Given the description of an element on the screen output the (x, y) to click on. 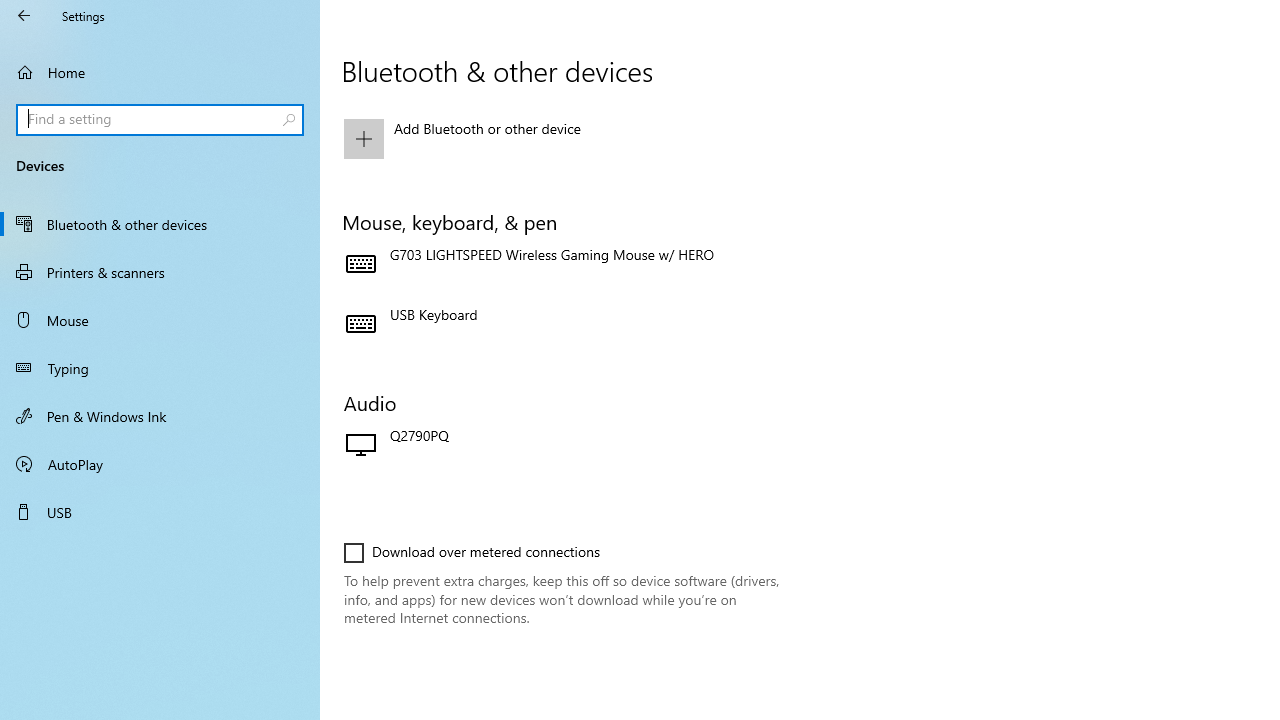
Q2790PQ Type: Display device (563, 445)
Printers & scanners (160, 271)
USB Keyboard Type: Keyboard (563, 324)
Typing (160, 367)
Bluetooth & other devices (160, 223)
Mouse (160, 319)
Add Bluetooth or other device (563, 138)
G703 LIGHTSPEED Wireless Gaming Mouse w/ HERO Type: Keyboard (563, 264)
Search box, Find a setting (160, 119)
Pen & Windows Ink (160, 415)
USB (160, 511)
Download over metered connections (472, 552)
AutoPlay (160, 463)
